Given the description of an element on the screen output the (x, y) to click on. 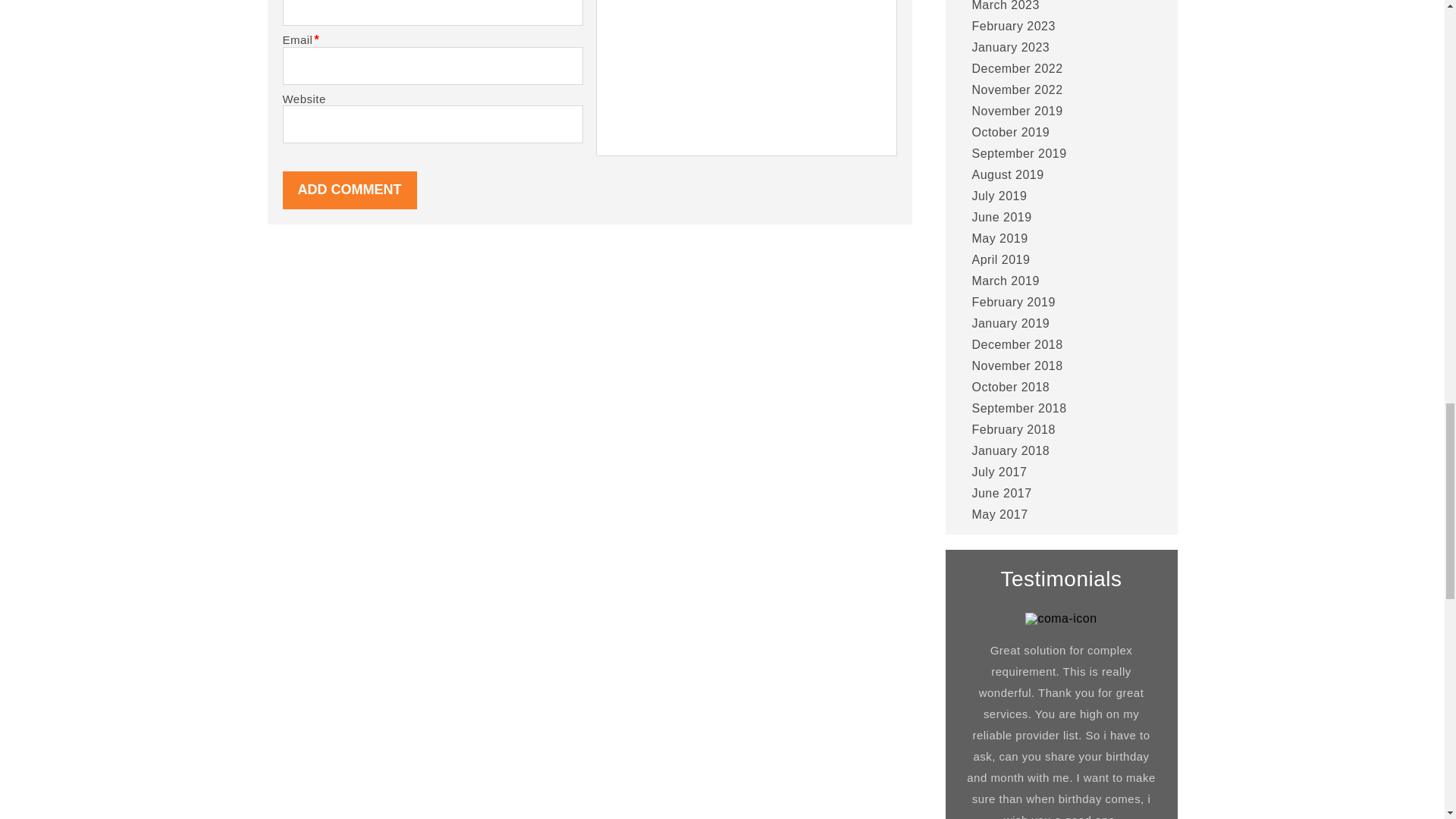
Add Comment (349, 190)
Add Comment (349, 190)
coma-icon (1060, 618)
